Given the description of an element on the screen output the (x, y) to click on. 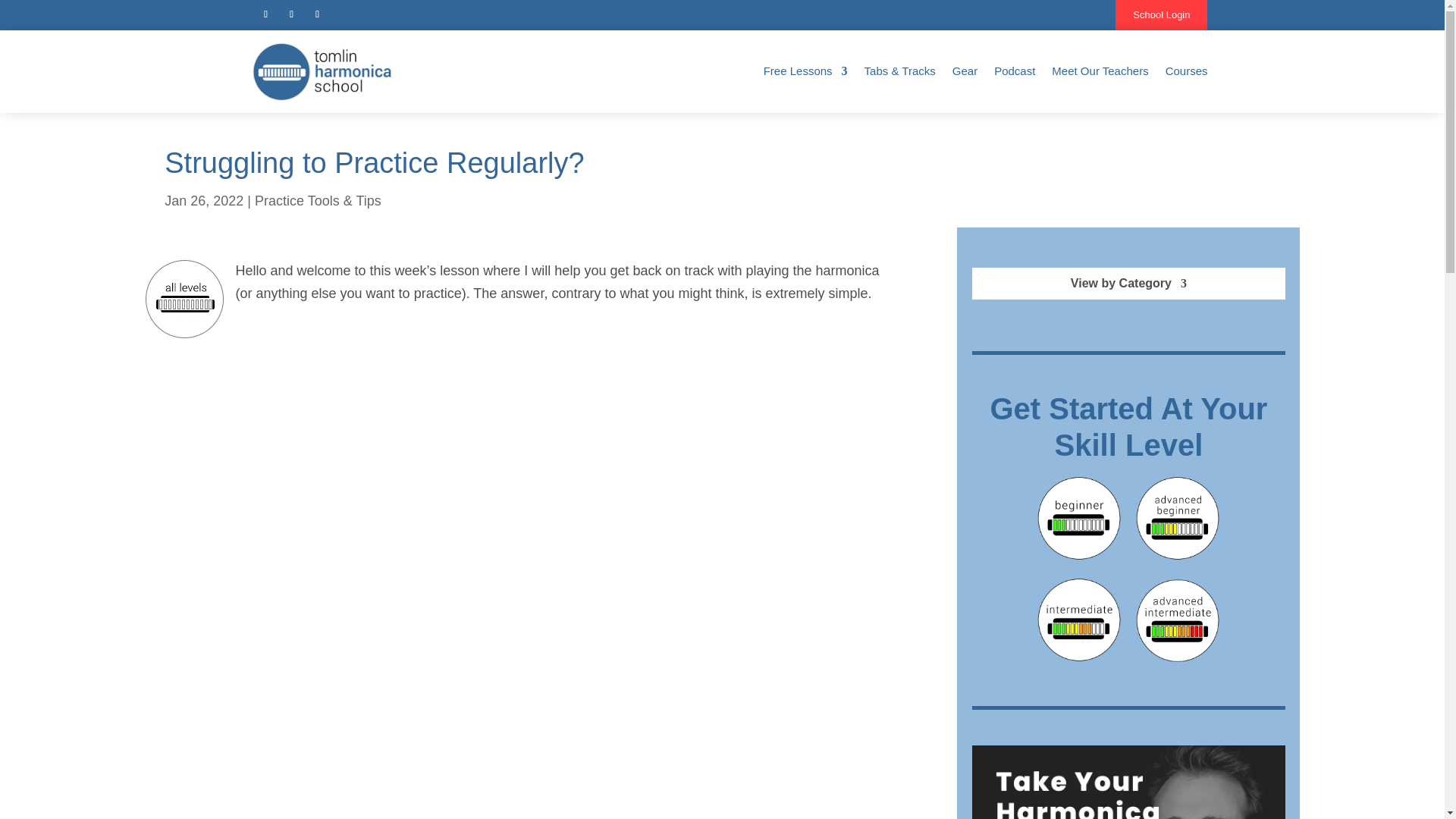
School Login (1161, 15)
Free Lessons (804, 71)
Follow on Facebook (291, 14)
harmonica school free trial (1128, 782)
Follow on Instagram (317, 14)
Meet Our Teachers (1099, 71)
Follow on Youtube (266, 14)
